Given the description of an element on the screen output the (x, y) to click on. 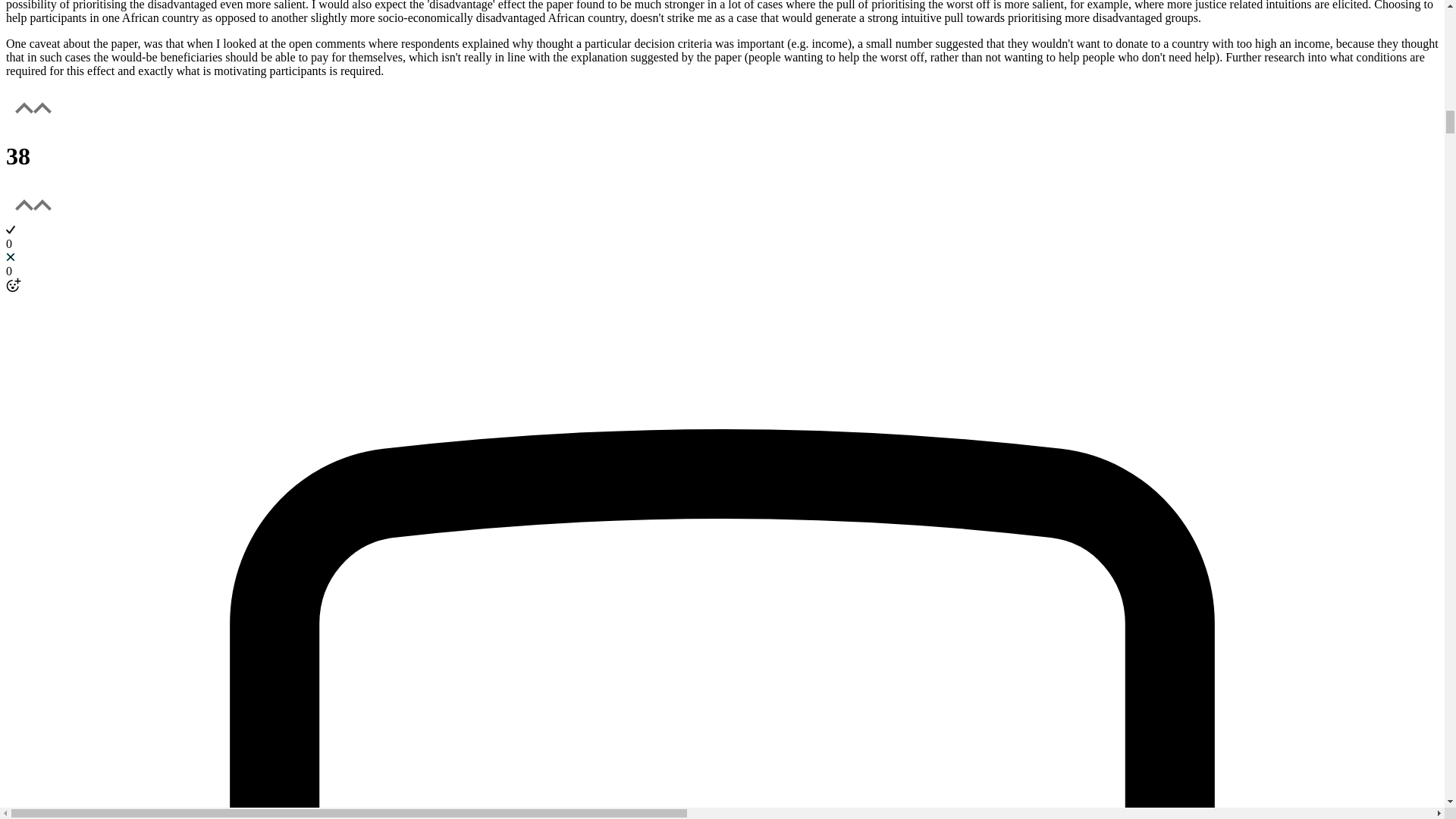
22 Votes (721, 156)
